Given the description of an element on the screen output the (x, y) to click on. 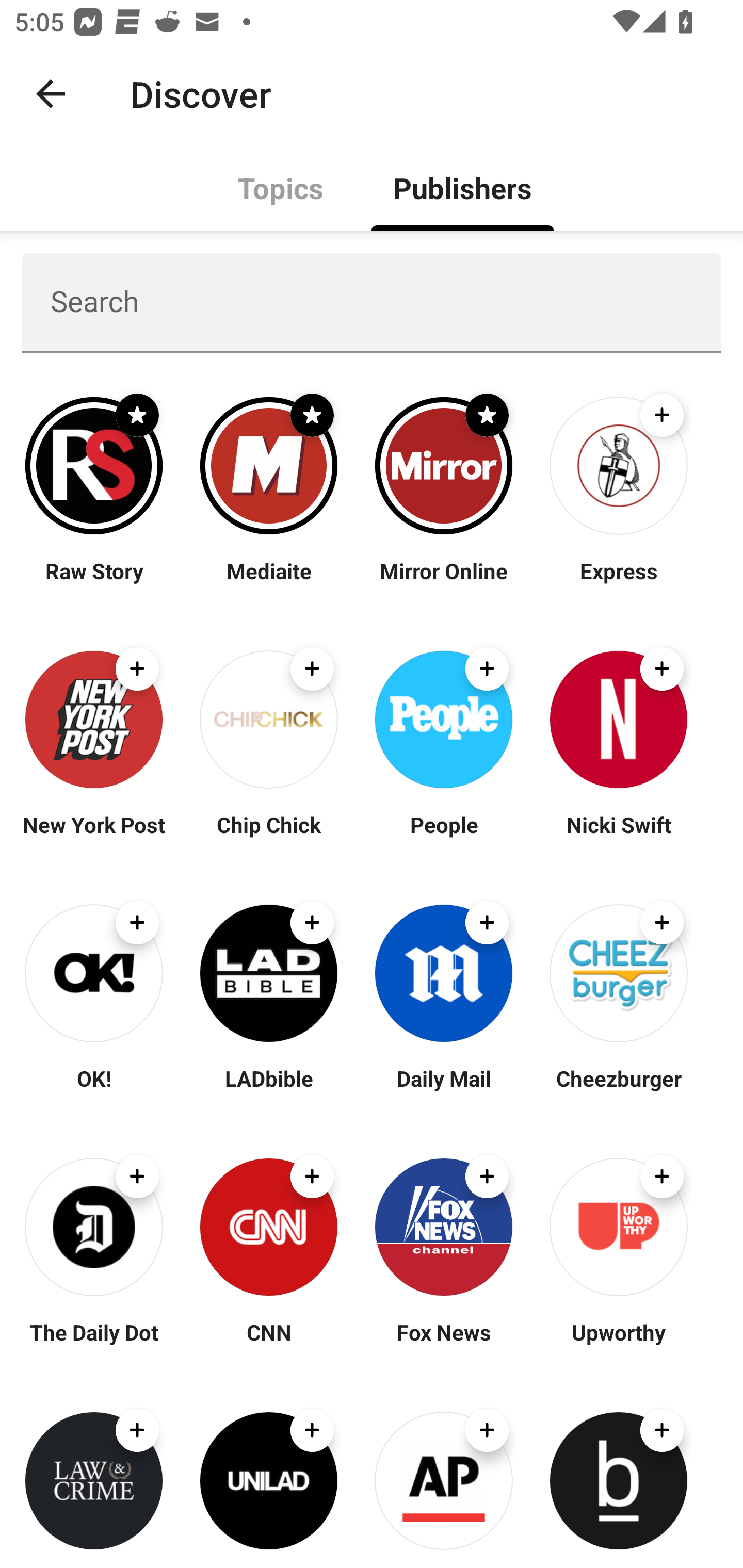
Topics (280, 187)
Search (371, 302)
Raw Story (93, 582)
Mediaite (268, 582)
Mirror Online (443, 582)
Express (618, 582)
New York Post (93, 836)
Chip Chick (268, 836)
People (443, 836)
Nicki Swift (618, 836)
OK! (93, 1090)
LADbible (268, 1090)
Daily Mail (443, 1090)
Cheezburger (618, 1090)
The Daily Dot (93, 1344)
CNN (268, 1344)
Fox News (443, 1344)
